Given the description of an element on the screen output the (x, y) to click on. 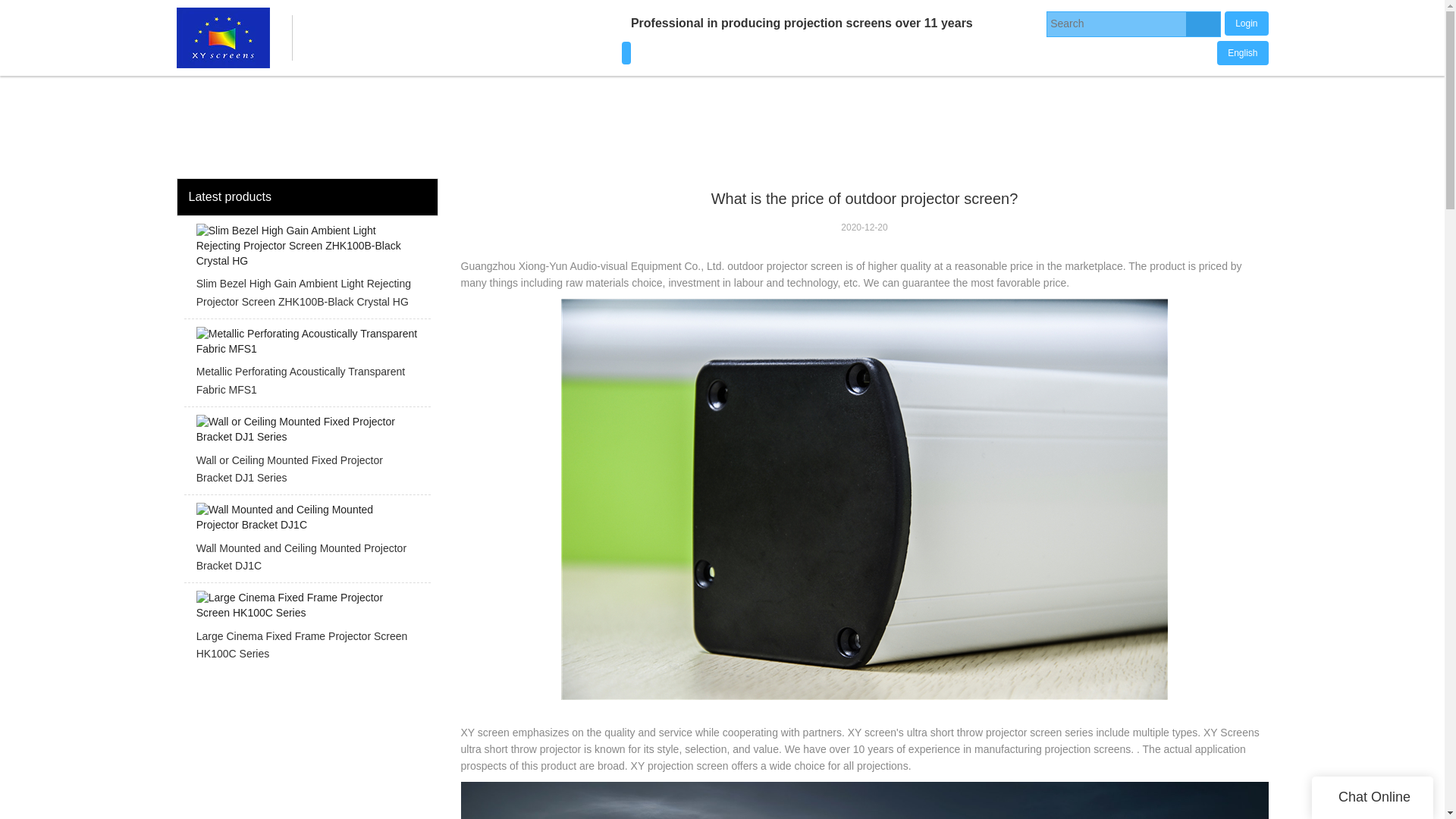
Login (1245, 21)
